Given the description of an element on the screen output the (x, y) to click on. 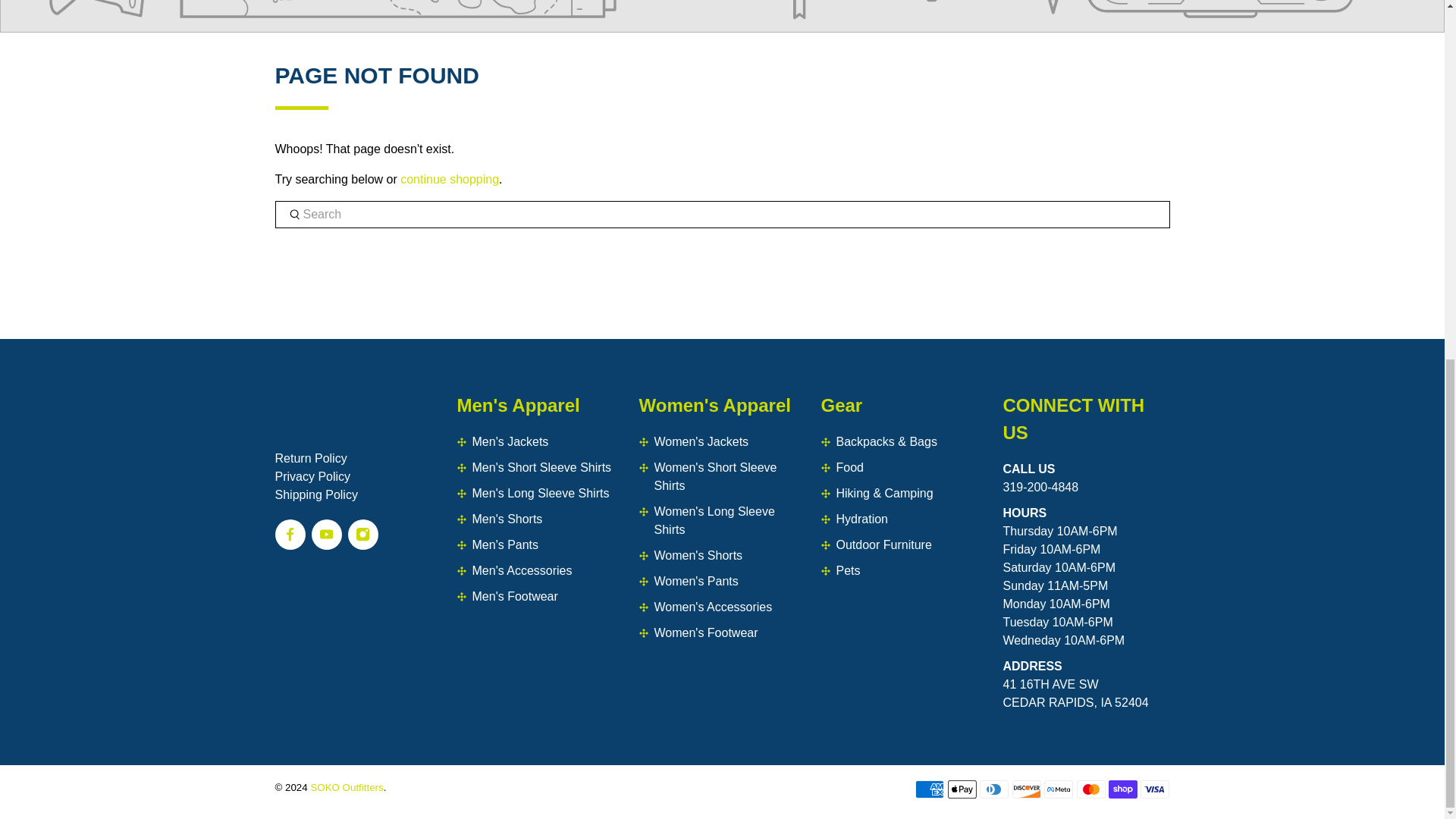
SOKO Outfitters (358, 420)
Return Policy (310, 458)
Discover (1026, 789)
Mastercard (1091, 789)
Men's Shorts (506, 518)
continue shopping (449, 178)
Diners Club (994, 789)
Privacy Policy (312, 476)
Men's Pants (504, 544)
Men's Long Sleeve Shirts (539, 492)
